Given the description of an element on the screen output the (x, y) to click on. 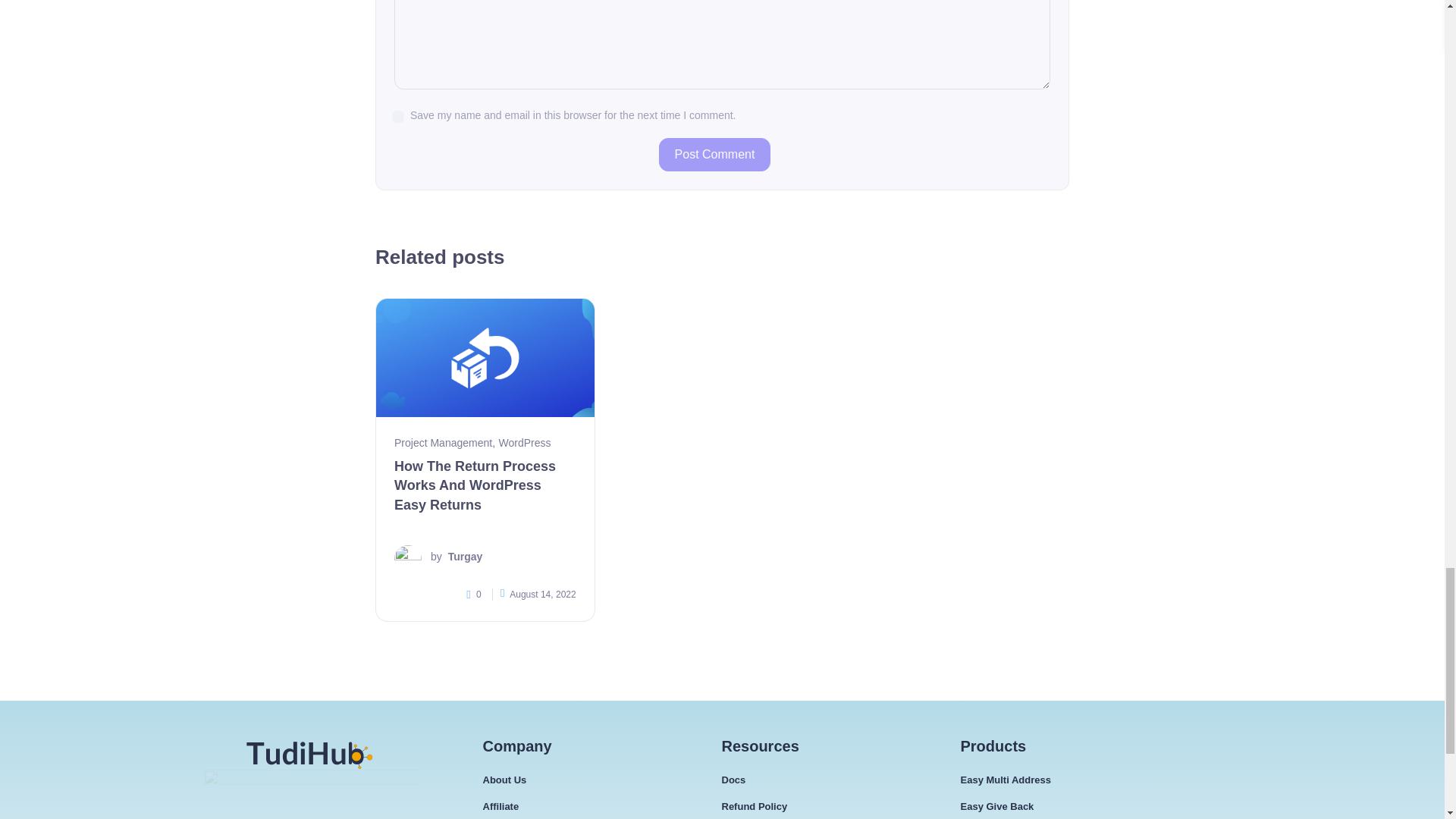
Docs (733, 780)
Easy Multi Address (1004, 780)
About Us (503, 780)
Easy Give Back (996, 806)
Affiliate (499, 806)
Refund Policy (754, 806)
